Given the description of an element on the screen output the (x, y) to click on. 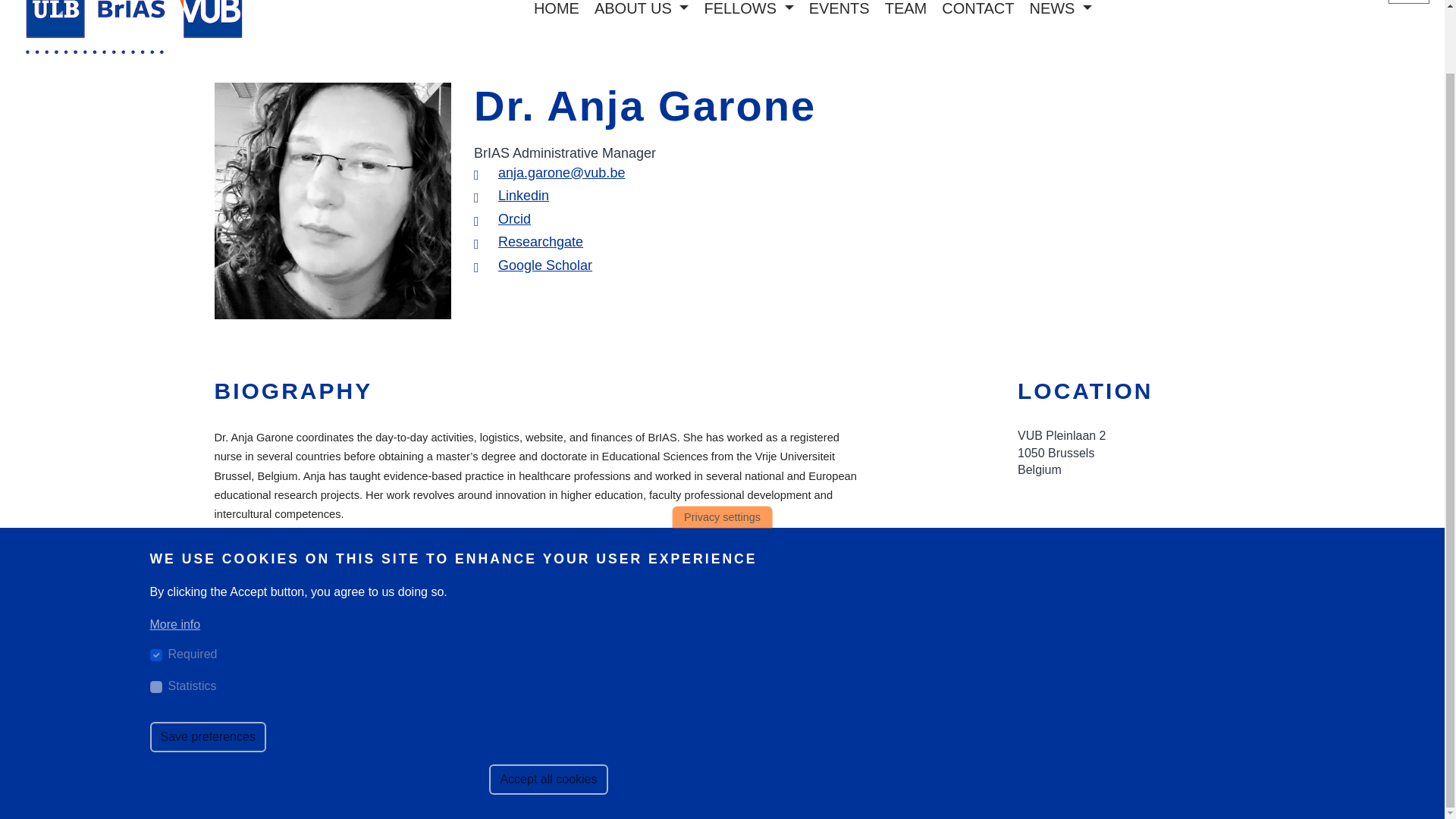
FELLOWS (748, 9)
Orcid (514, 218)
Linkedin (522, 195)
Vrije Universiteit Brussel (1045, 652)
required (155, 585)
ABOUT US (641, 9)
EVENTS (839, 9)
Accept all cookies (548, 710)
More info (174, 556)
Google Scholar (544, 264)
